Given the description of an element on the screen output the (x, y) to click on. 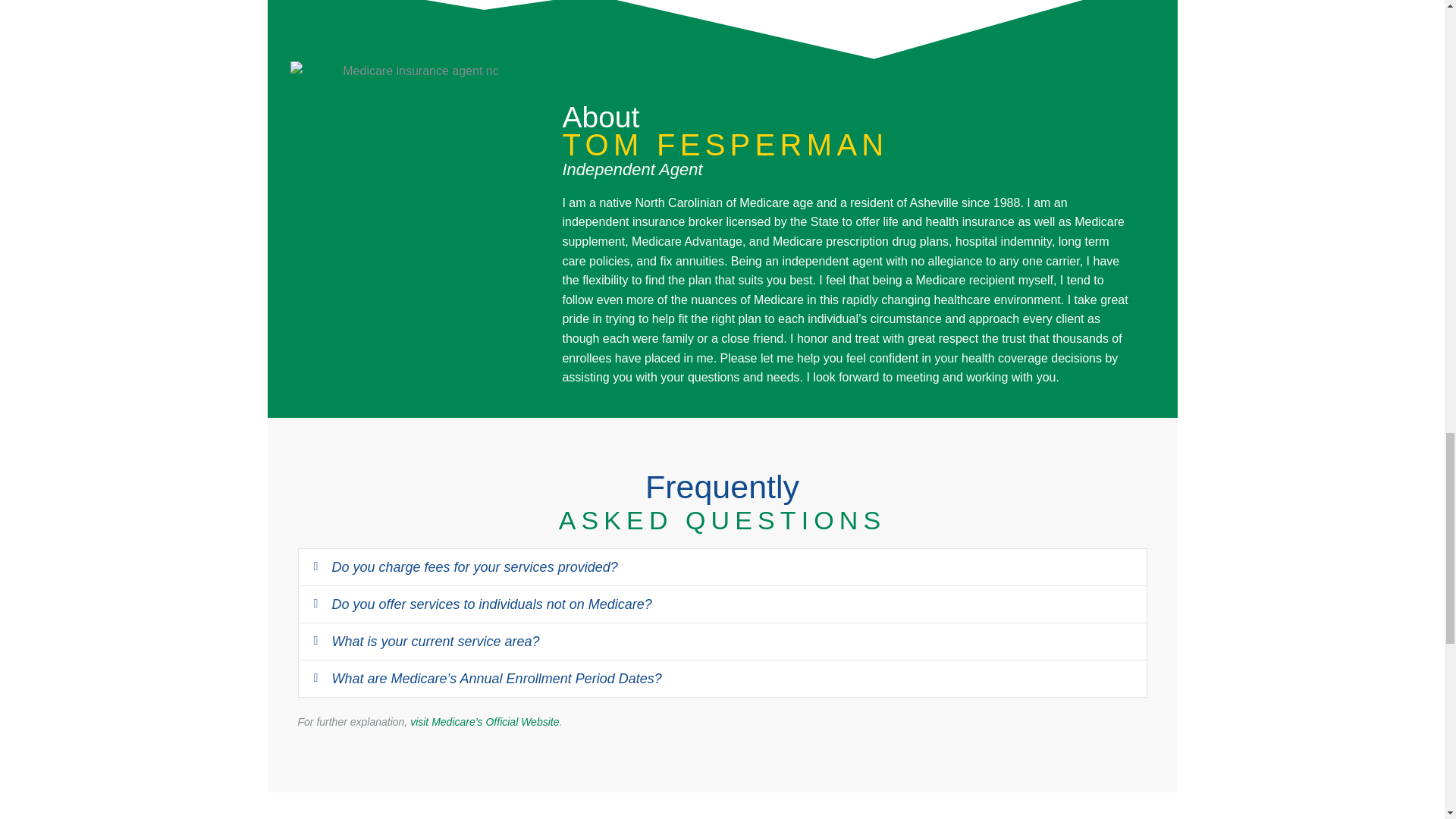
Do you offer services to individuals not on Medicare? (491, 604)
What is your current service area? (435, 641)
Do you charge fees for your services provided? (474, 566)
